Given the description of an element on the screen output the (x, y) to click on. 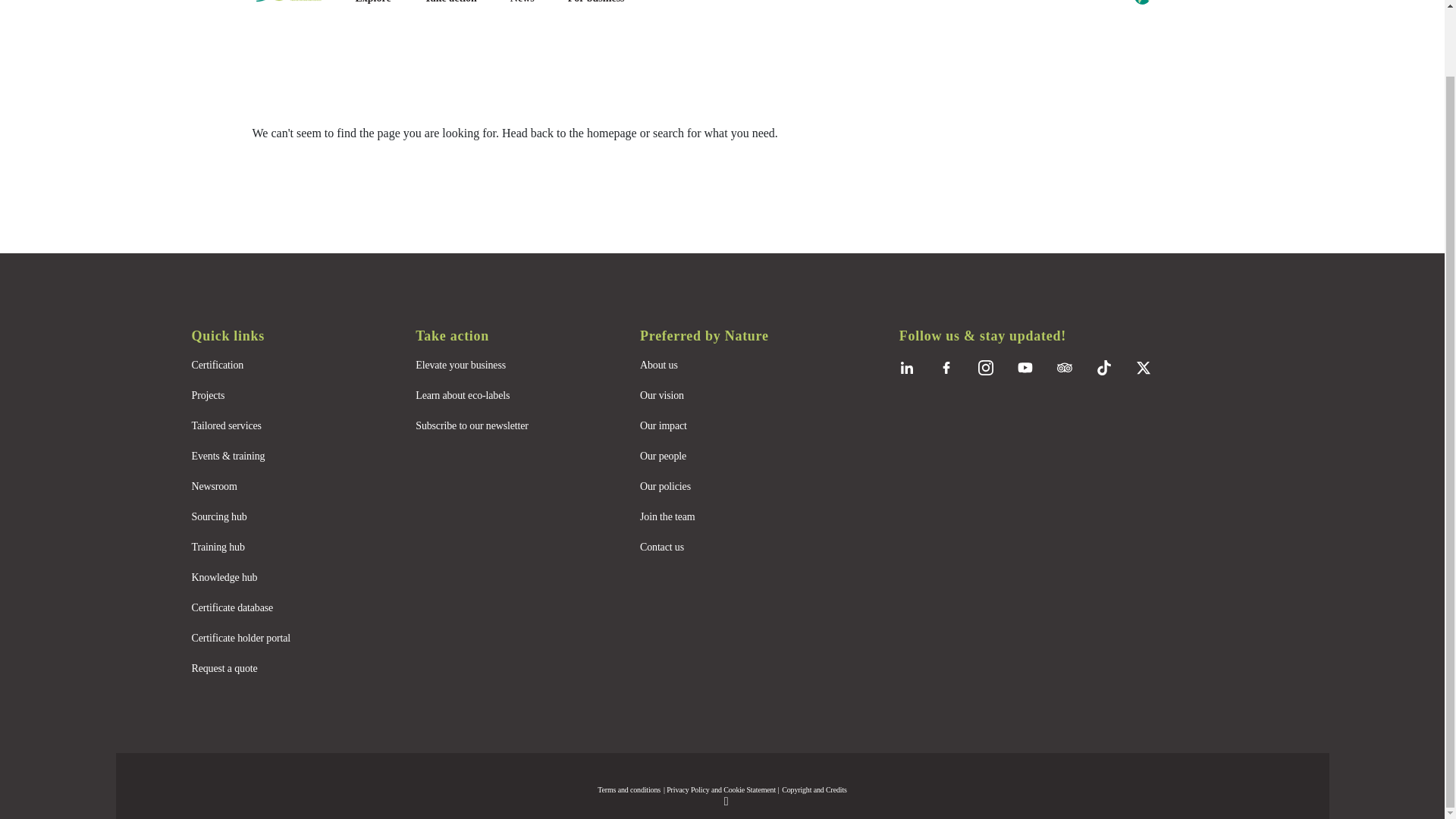
For Business (595, 2)
Home (296, 2)
